Given the description of an element on the screen output the (x, y) to click on. 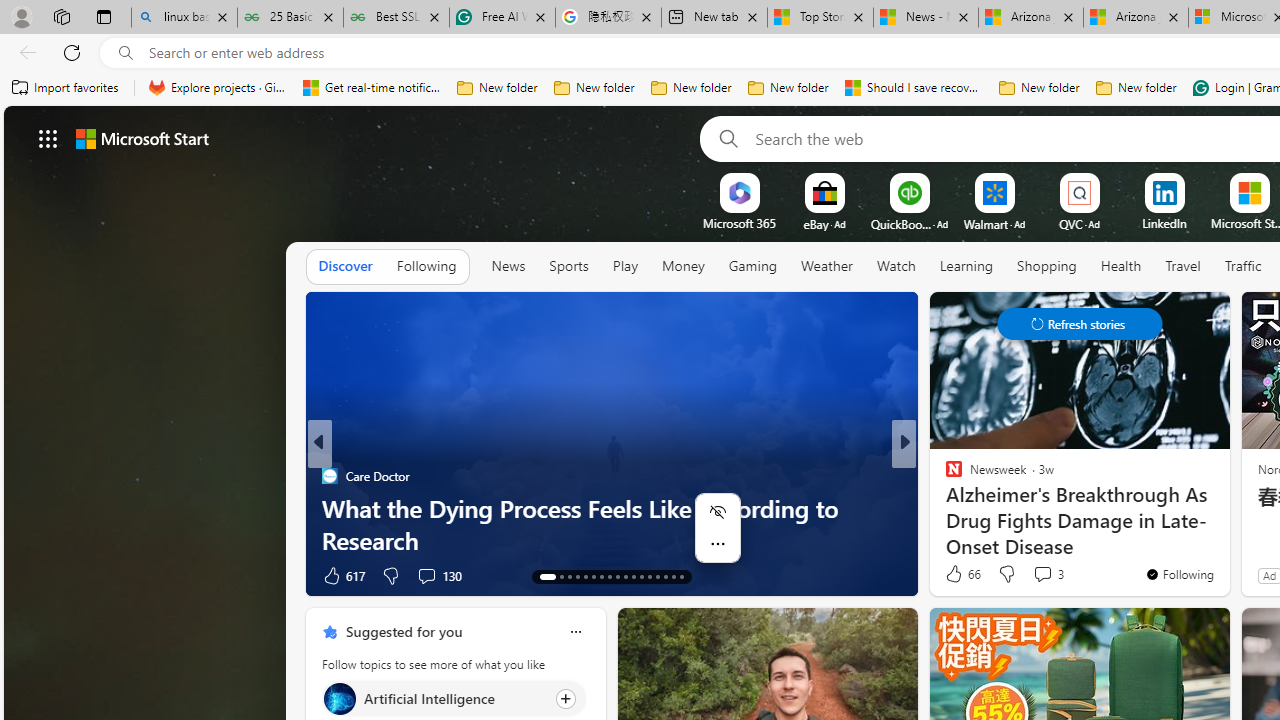
Shopping (1047, 265)
AutomationID: tab-13 (541, 576)
Learning (965, 265)
Class: icon-img (575, 632)
477 Like (959, 574)
tom's Hardware (944, 475)
7 Like (952, 574)
